Given the description of an element on the screen output the (x, y) to click on. 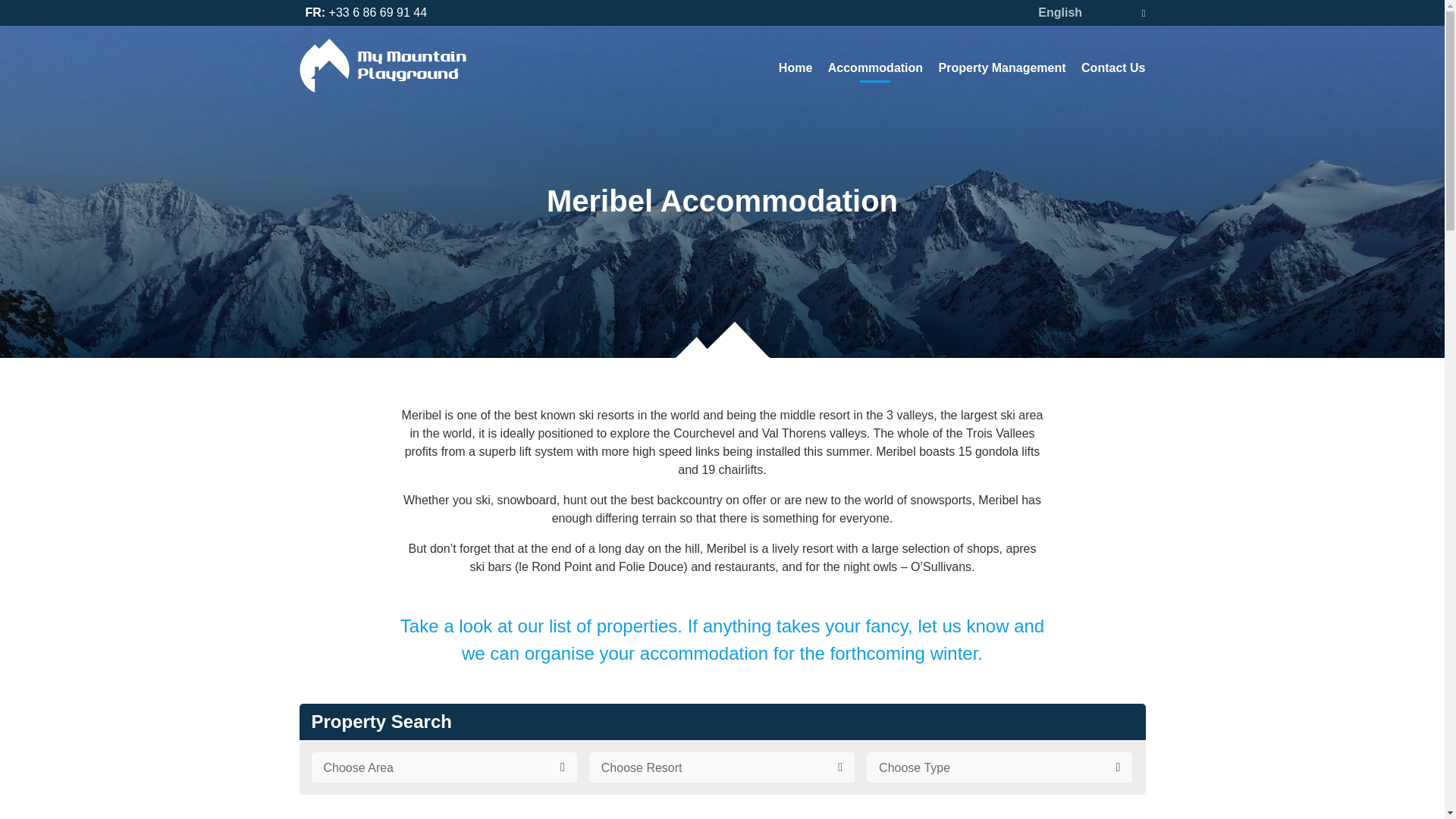
Accommodation (875, 70)
My Mountain Playground (381, 64)
Home (795, 67)
Contact Us (1112, 67)
Property Management (1002, 67)
